Given the description of an element on the screen output the (x, y) to click on. 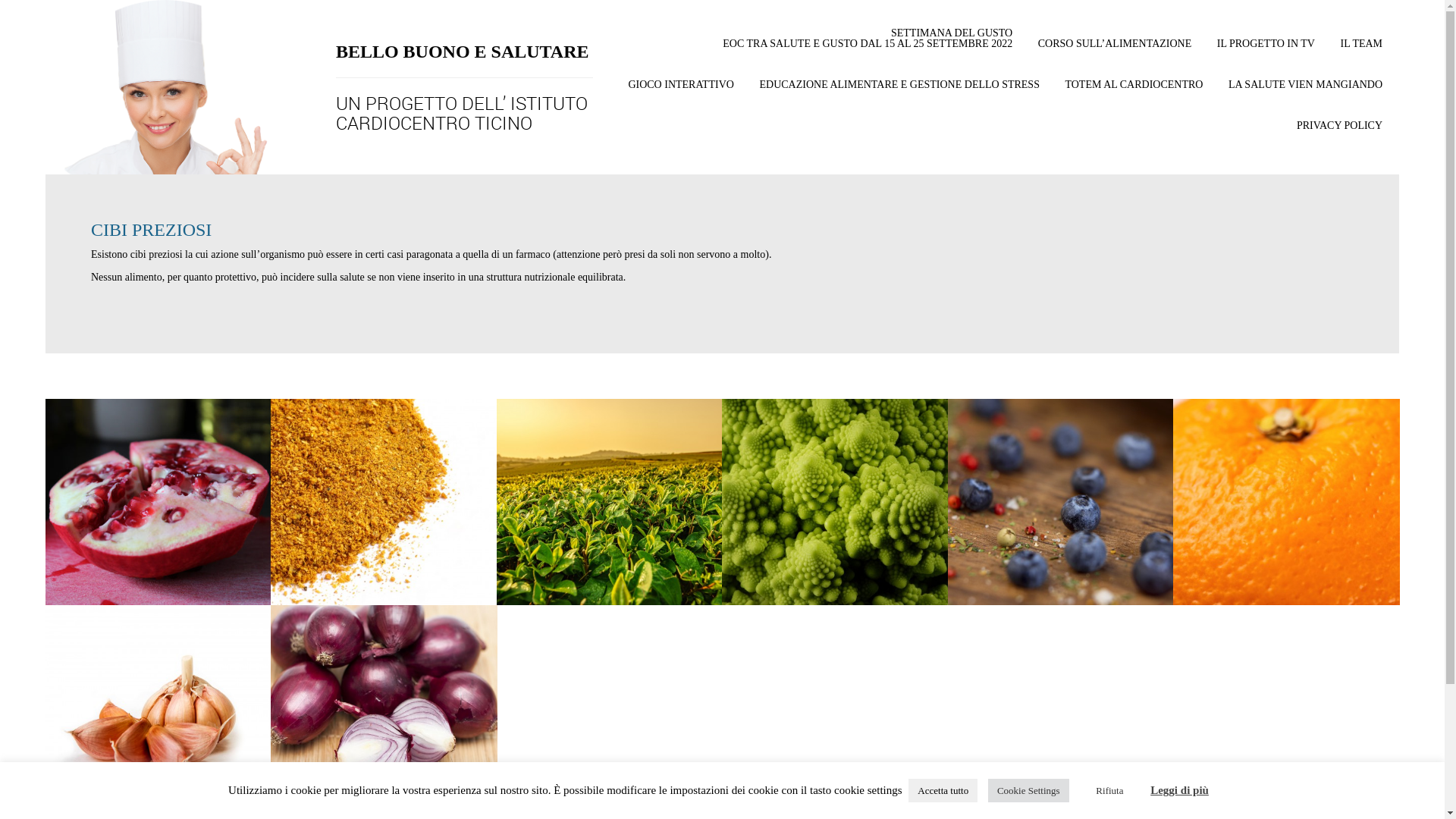
Rifiuta Element type: text (1109, 790)
PRIVACY POLICY Element type: text (1339, 132)
LA SALUTE VIEN MANGIANDO Element type: text (1305, 92)
GIOCO INTERATTIVO Element type: text (680, 92)
TOTEM AL CARDIOCENTRO Element type: text (1133, 92)
Accetta tutto Element type: text (942, 790)
IL PROGETTO IN TV Element type: text (1265, 51)
Cookie Settings Element type: text (1028, 790)
EDUCAZIONE ALIMENTARE E GESTIONE DELLO STRESS Element type: text (898, 92)
IL TEAM Element type: text (1360, 51)
ISTITUTO CARDIOCENTRO TICINO Element type: text (461, 112)
